Given the description of an element on the screen output the (x, y) to click on. 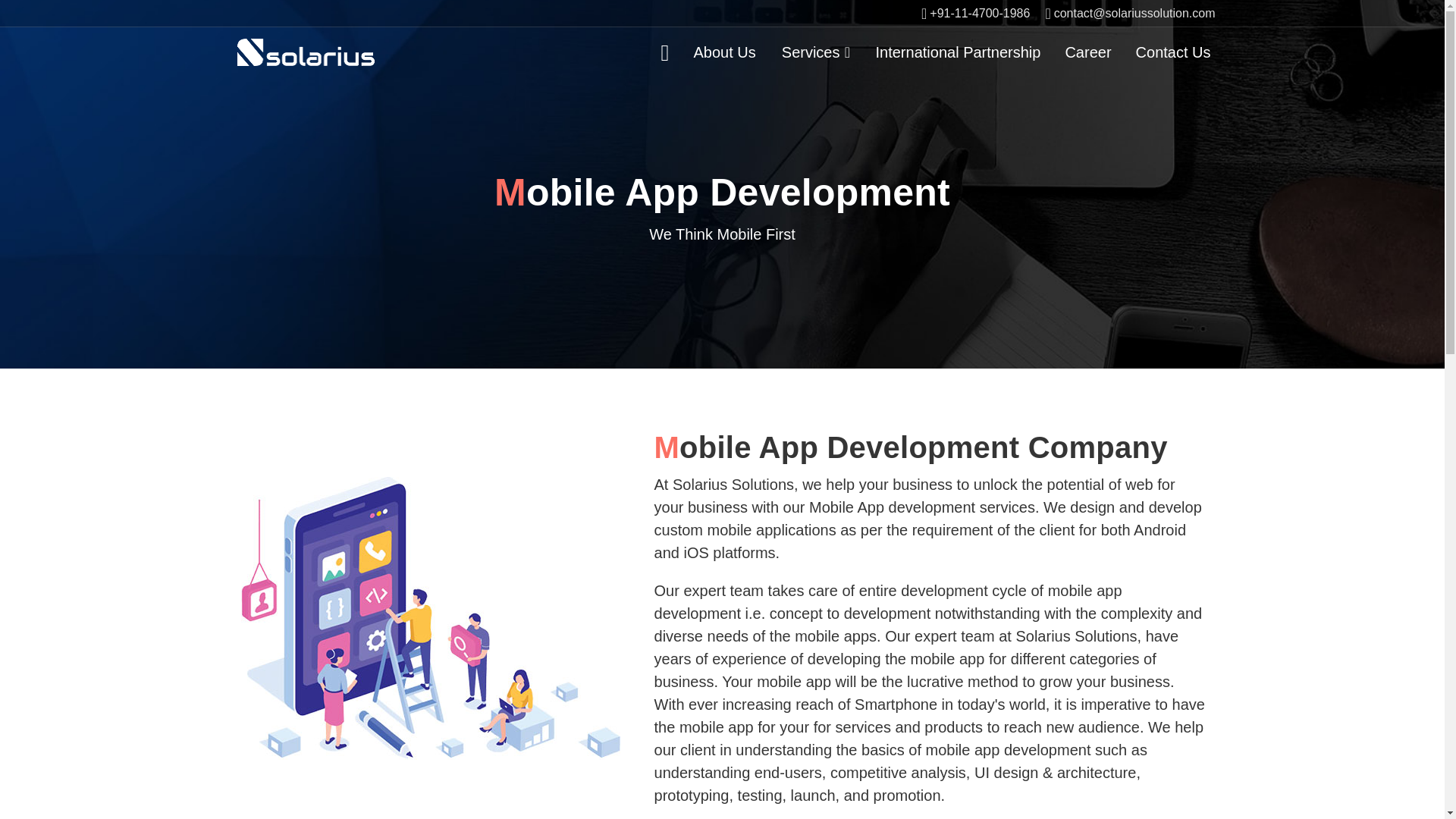
Services (814, 51)
Email ID (1129, 12)
Contact Us (1173, 51)
Telephone Number (975, 12)
About Us (725, 51)
International Partnership (958, 51)
Career (1088, 51)
